Given the description of an element on the screen output the (x, y) to click on. 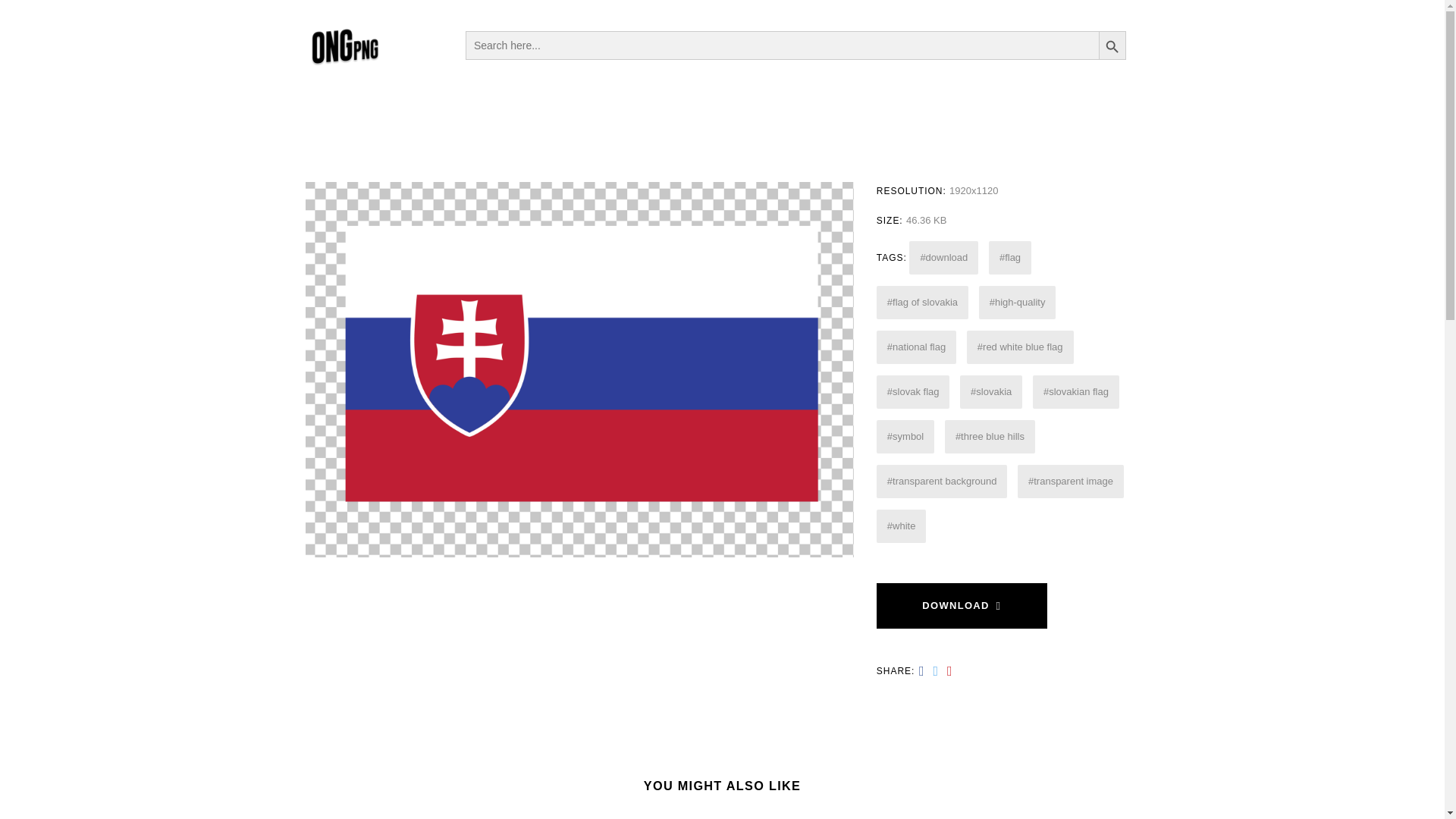
Search Button (1112, 44)
flag of slovakia (922, 302)
download (943, 257)
flag (1009, 257)
